Given the description of an element on the screen output the (x, y) to click on. 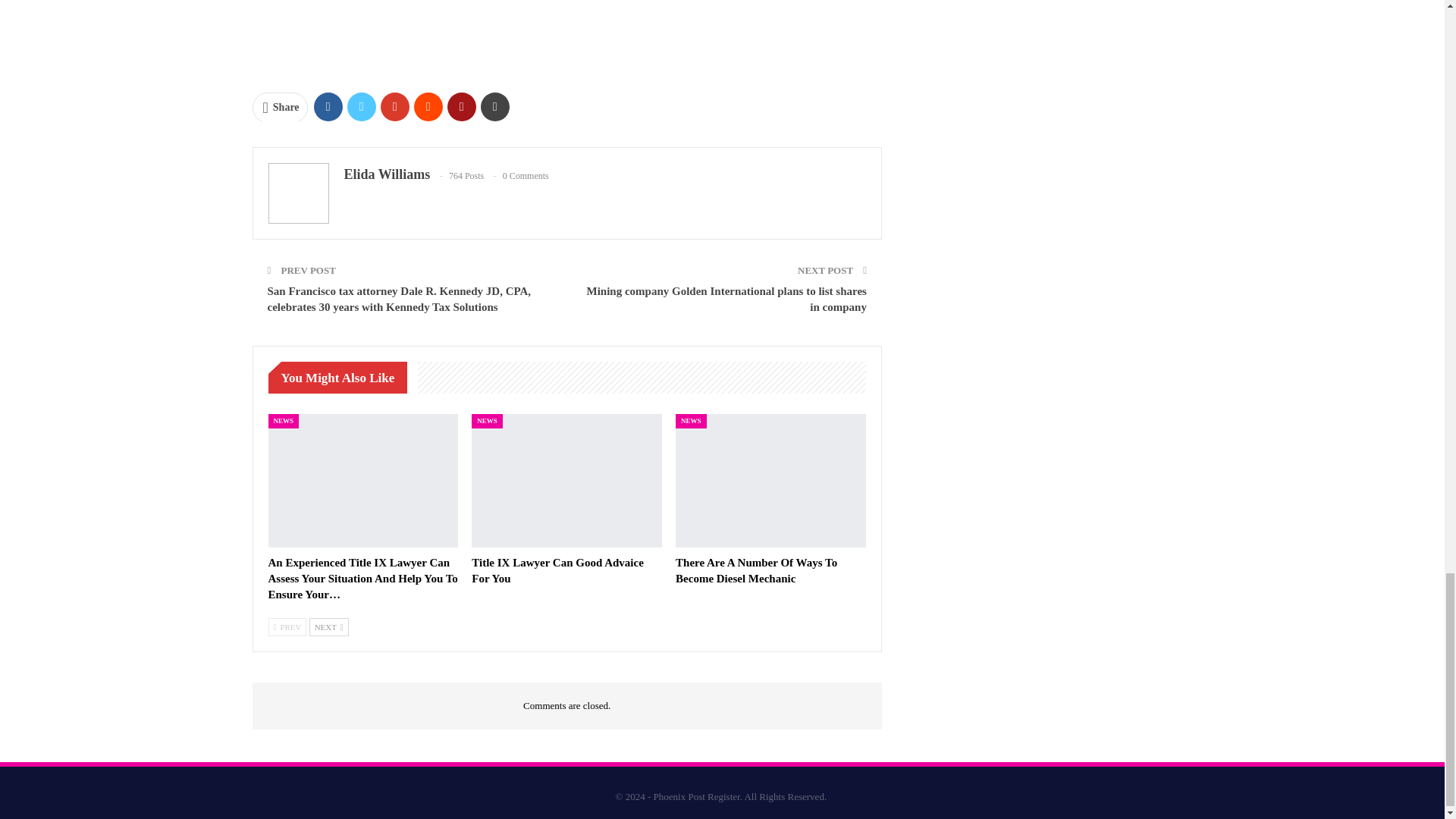
Title IX Lawyer Can Good Advaice For You (566, 480)
Title IX Lawyer Can Good Advaice For You (557, 570)
